Given the description of an element on the screen output the (x, y) to click on. 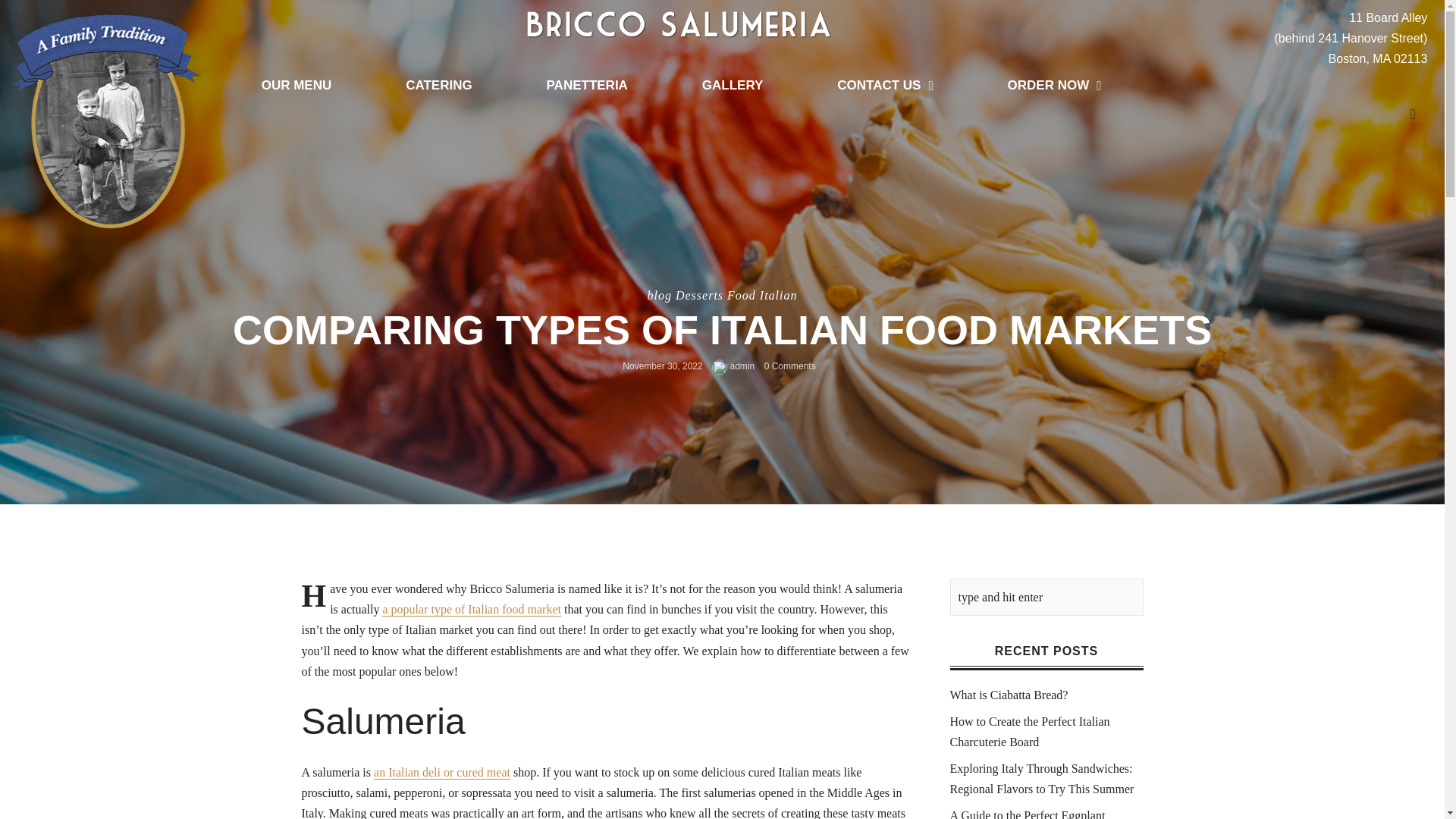
CATERING (438, 85)
OUR MENU (296, 85)
an Italian deli or cured meat (442, 772)
Italian (778, 295)
Desserts (699, 295)
GALLERY (732, 85)
admin (732, 366)
PANETTERIA (587, 85)
CONTACT US (884, 85)
blog (658, 295)
a popular type of Italian food market (470, 609)
ORDER NOW (1054, 85)
Food (740, 295)
